Given the description of an element on the screen output the (x, y) to click on. 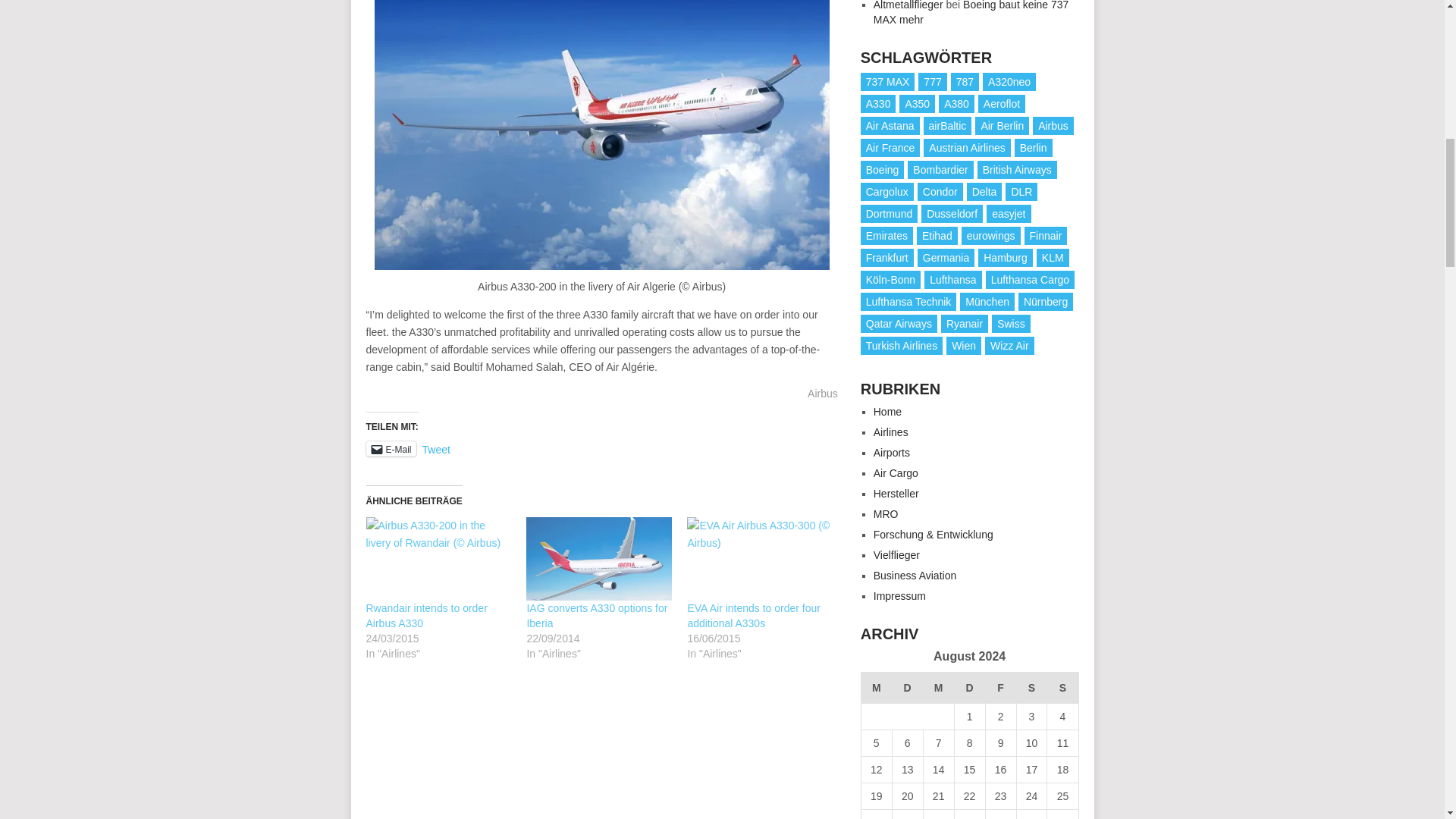
IAG converts A330 options for Iberia (598, 558)
Donnerstag (969, 686)
IAG converts A330 options for Iberia (595, 615)
EVA Air intends to order four additional A330s (754, 615)
Freitag (1000, 686)
Mittwoch (938, 686)
EVA Air intends to order four additional A330s (754, 615)
Rwandair intends to order Airbus A330 (425, 615)
Montag (875, 686)
EVA Air intends to order four additional A330s (759, 558)
